Given the description of an element on the screen output the (x, y) to click on. 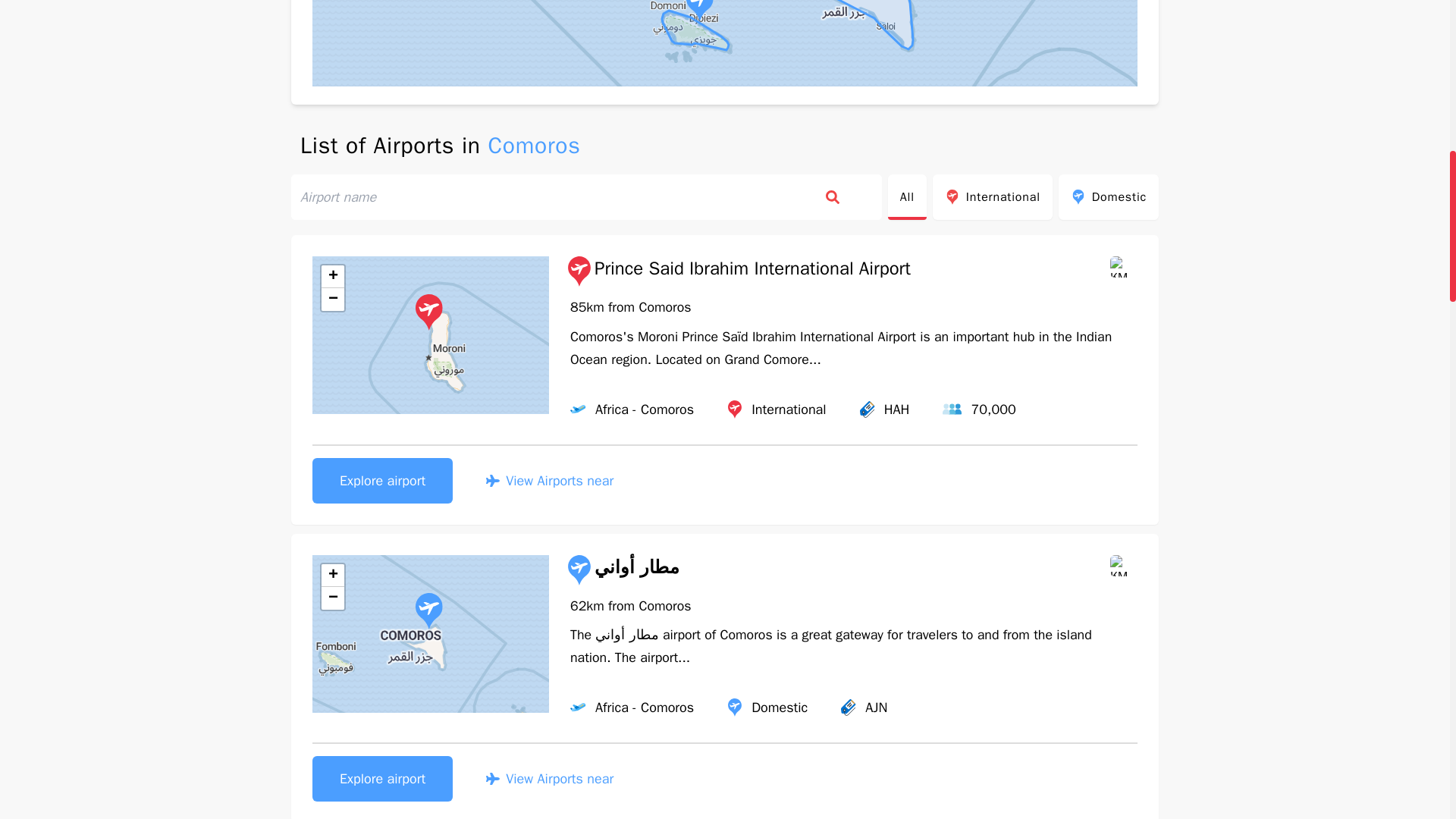
International (992, 197)
Prince Said Ibrahim International Airport (737, 271)
Explore airport (382, 480)
View Airports near (549, 480)
Domestic (1108, 197)
All (907, 197)
Zoom in (332, 575)
Zoom in (332, 276)
Zoom out (332, 299)
Zoom out (332, 598)
